Given the description of an element on the screen output the (x, y) to click on. 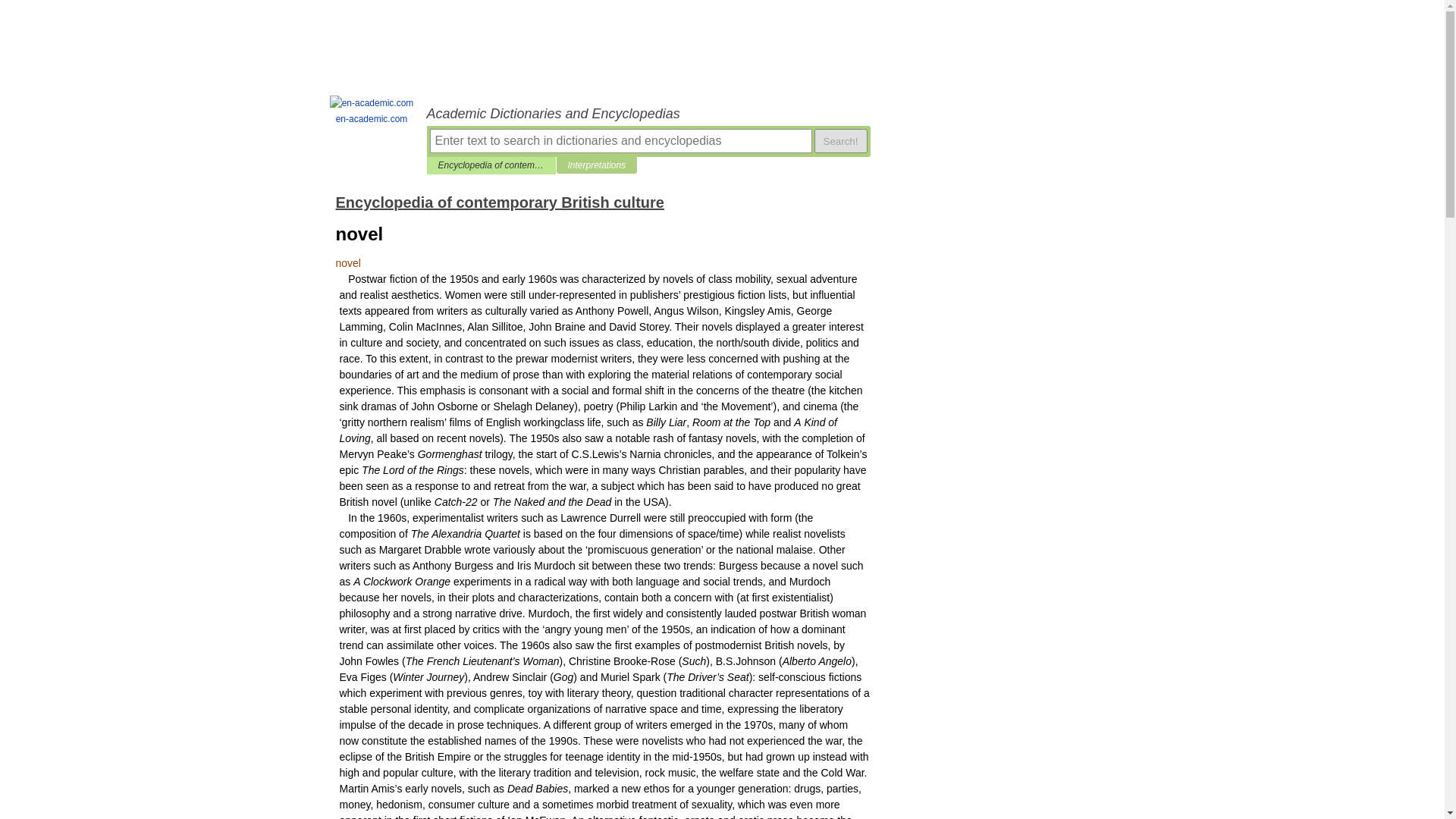
Enter text to search in dictionaries and encyclopedias (619, 140)
Encyclopedia of contemporary British culture (491, 165)
Interpretations (596, 165)
Encyclopedia of contemporary British culture (498, 202)
Academic Dictionaries and Encyclopedias (647, 114)
en-academic.com (371, 111)
Search! (840, 140)
